Given the description of an element on the screen output the (x, y) to click on. 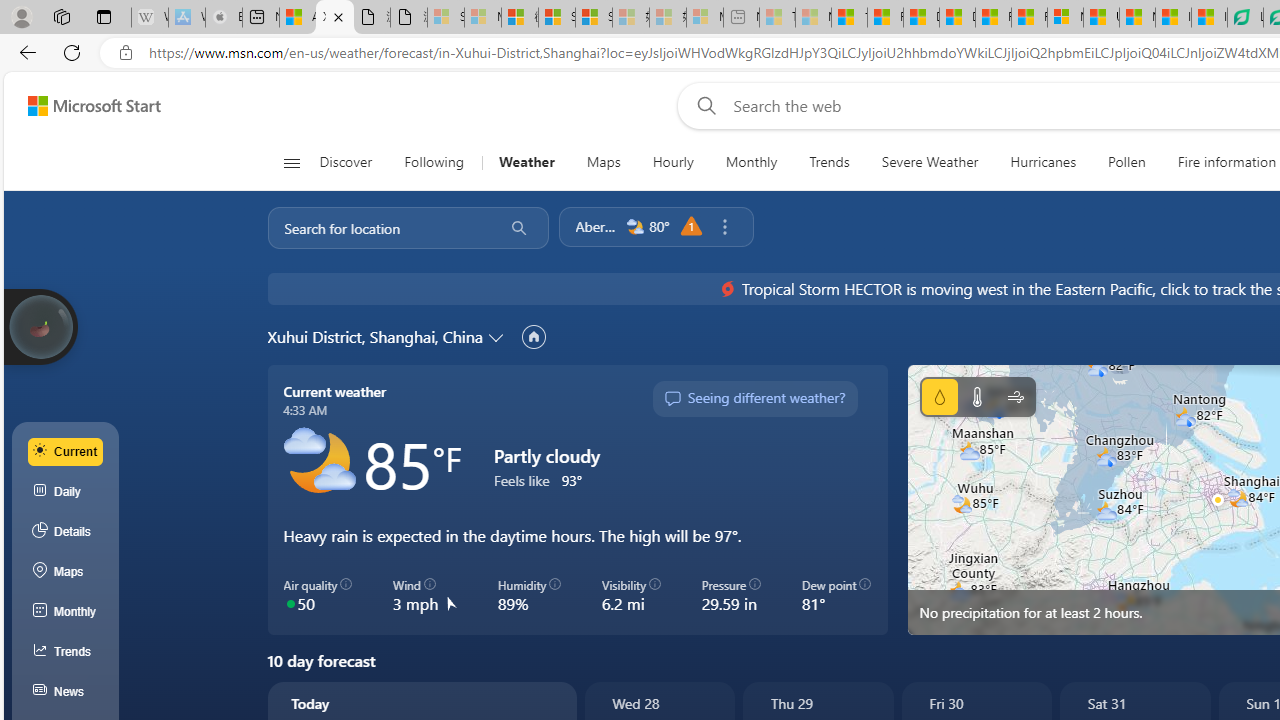
New tab - Sleeping (741, 17)
Air quality 50 (317, 595)
Sign in to your Microsoft account - Sleeping (445, 17)
Microsoft account | Account Checkup - Sleeping (705, 17)
Monthly (751, 162)
Pollen (1126, 162)
Trends (65, 651)
Wind 3 mph (424, 595)
Web search (702, 105)
